Given the description of an element on the screen output the (x, y) to click on. 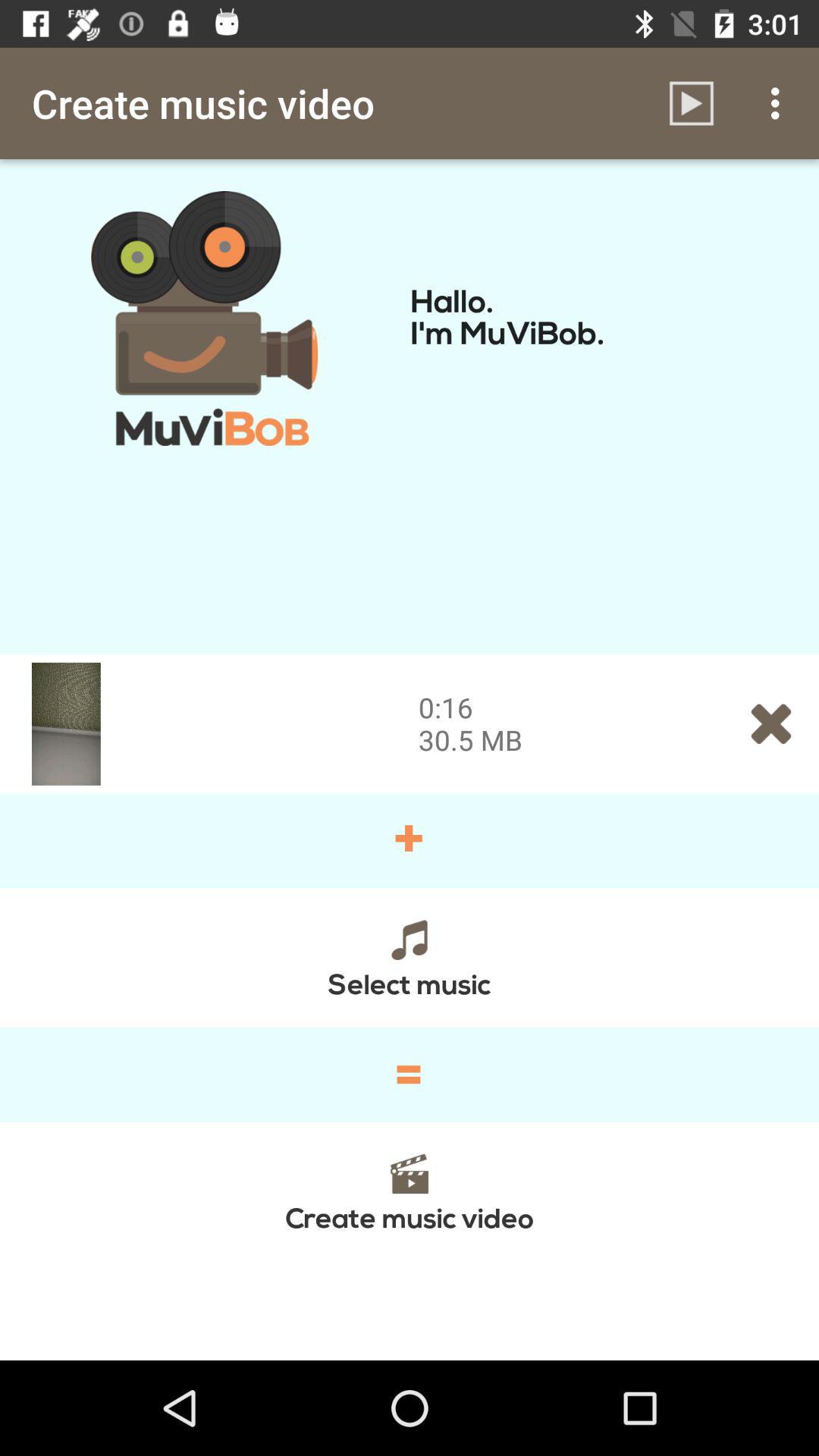
tap the icon above the = icon (409, 957)
